Given the description of an element on the screen output the (x, y) to click on. 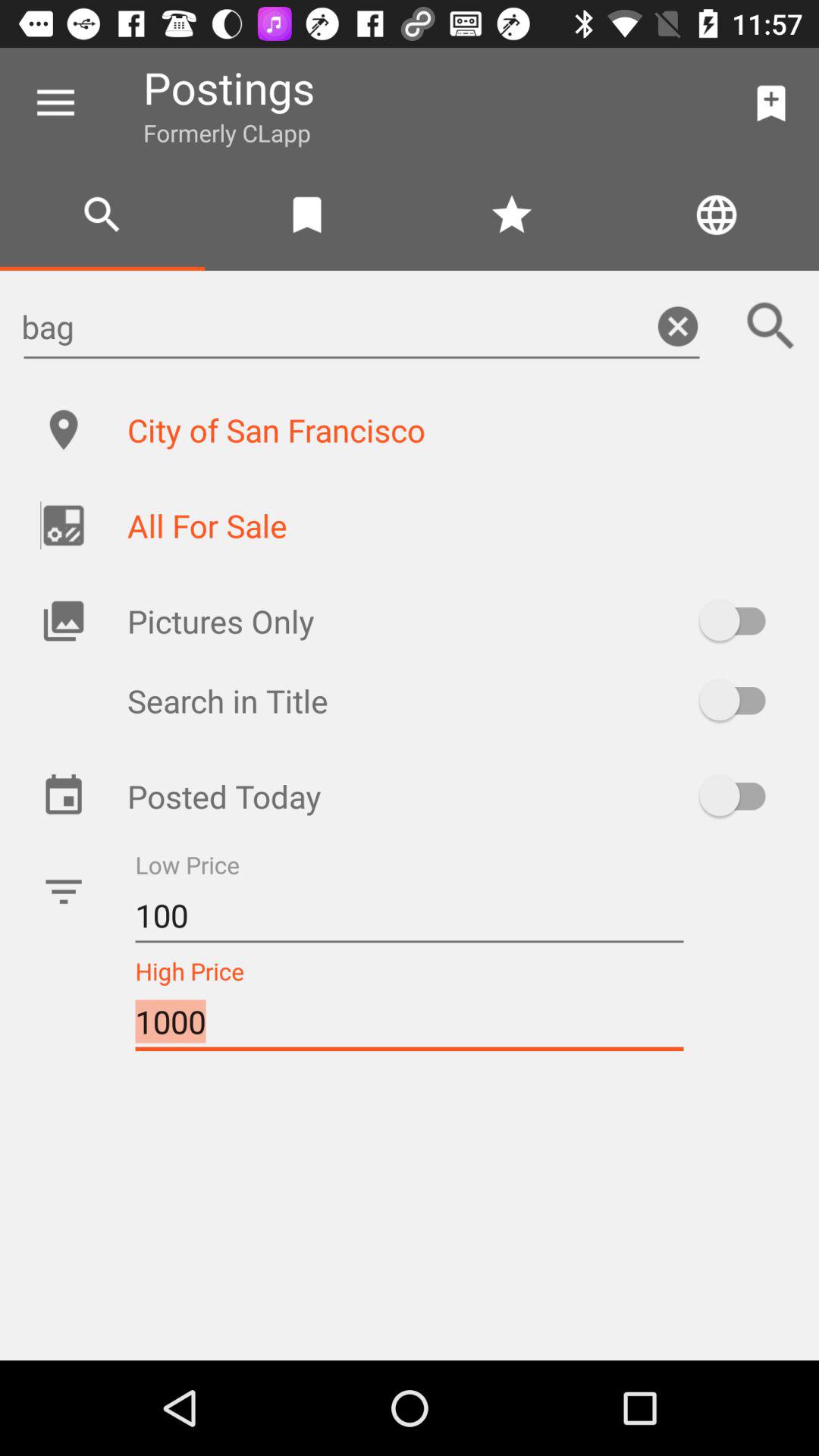
press the icon below posted today item (409, 915)
